Given the description of an element on the screen output the (x, y) to click on. 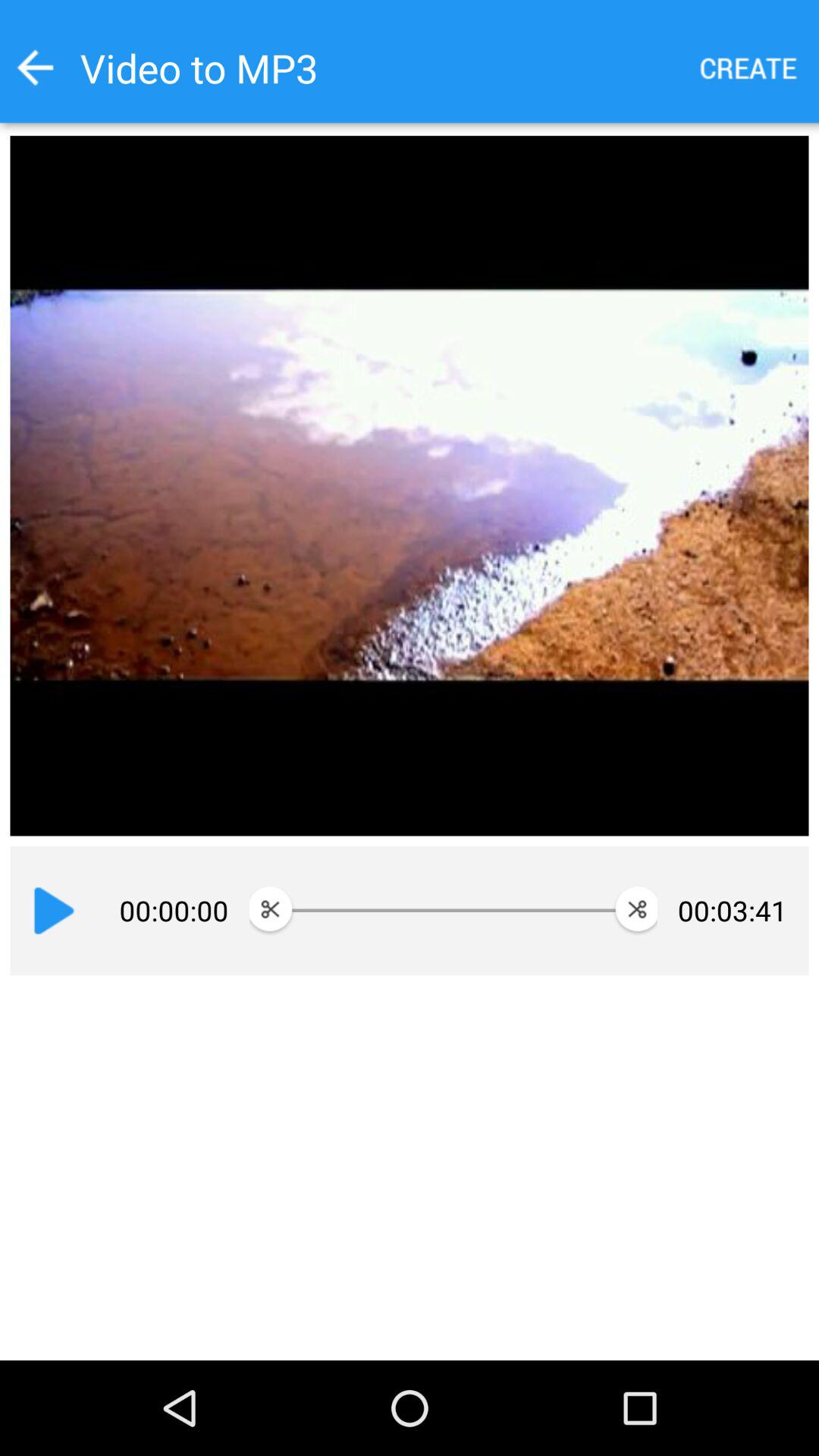
launch the app next to video to mp3 (35, 67)
